Given the description of an element on the screen output the (x, y) to click on. 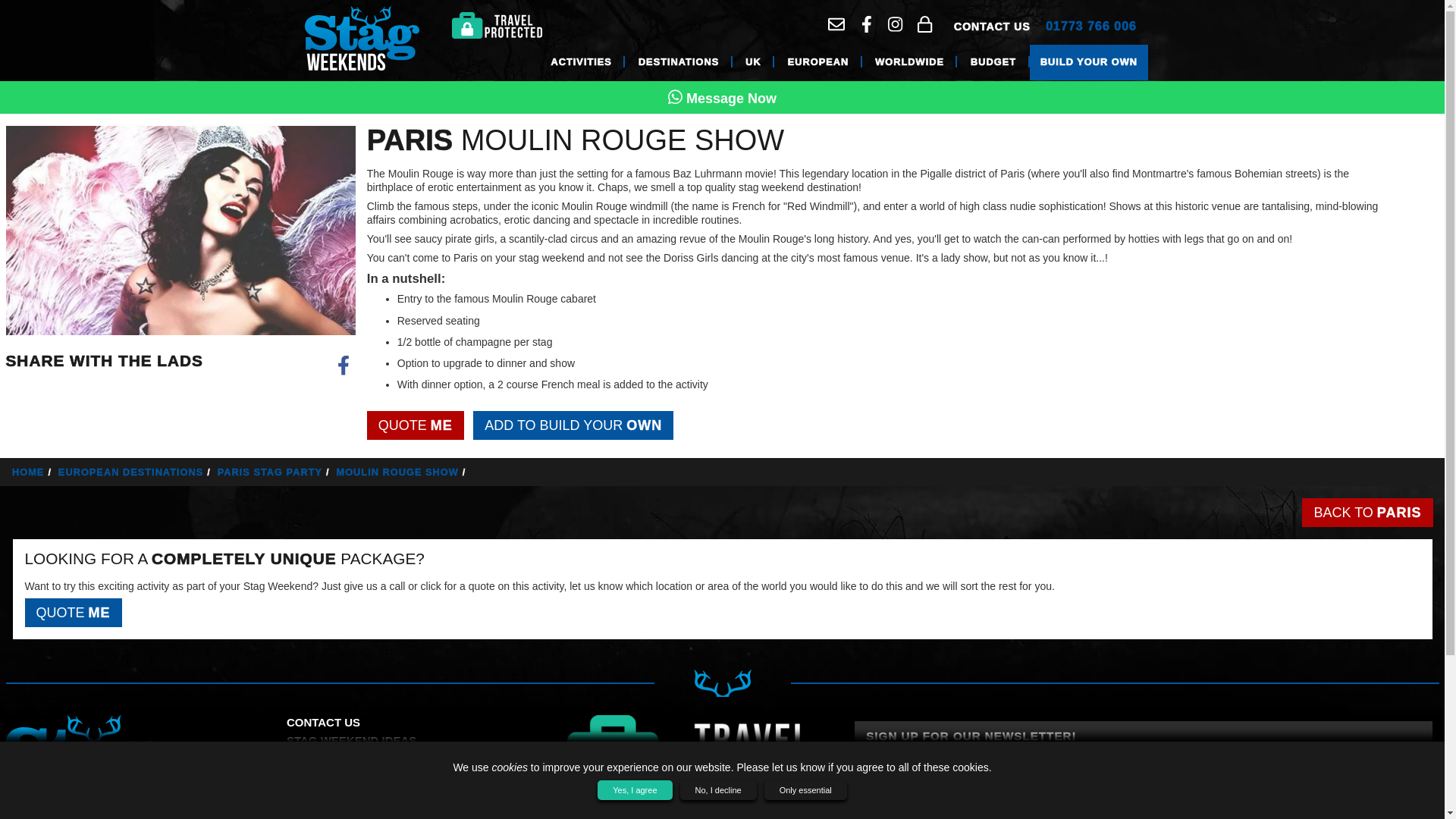
TERMS AND CONDITIONS (357, 775)
BLOG (302, 811)
01773 766 006 (1091, 26)
BUDGET (992, 62)
EUROPEAN DESTINATIONS (136, 471)
BUILD YOUR OWN (1088, 62)
BACK TO PARIS (1366, 512)
PRIVACY POLICY (333, 793)
HOME (33, 471)
REVIEWS (312, 757)
